Given the description of an element on the screen output the (x, y) to click on. 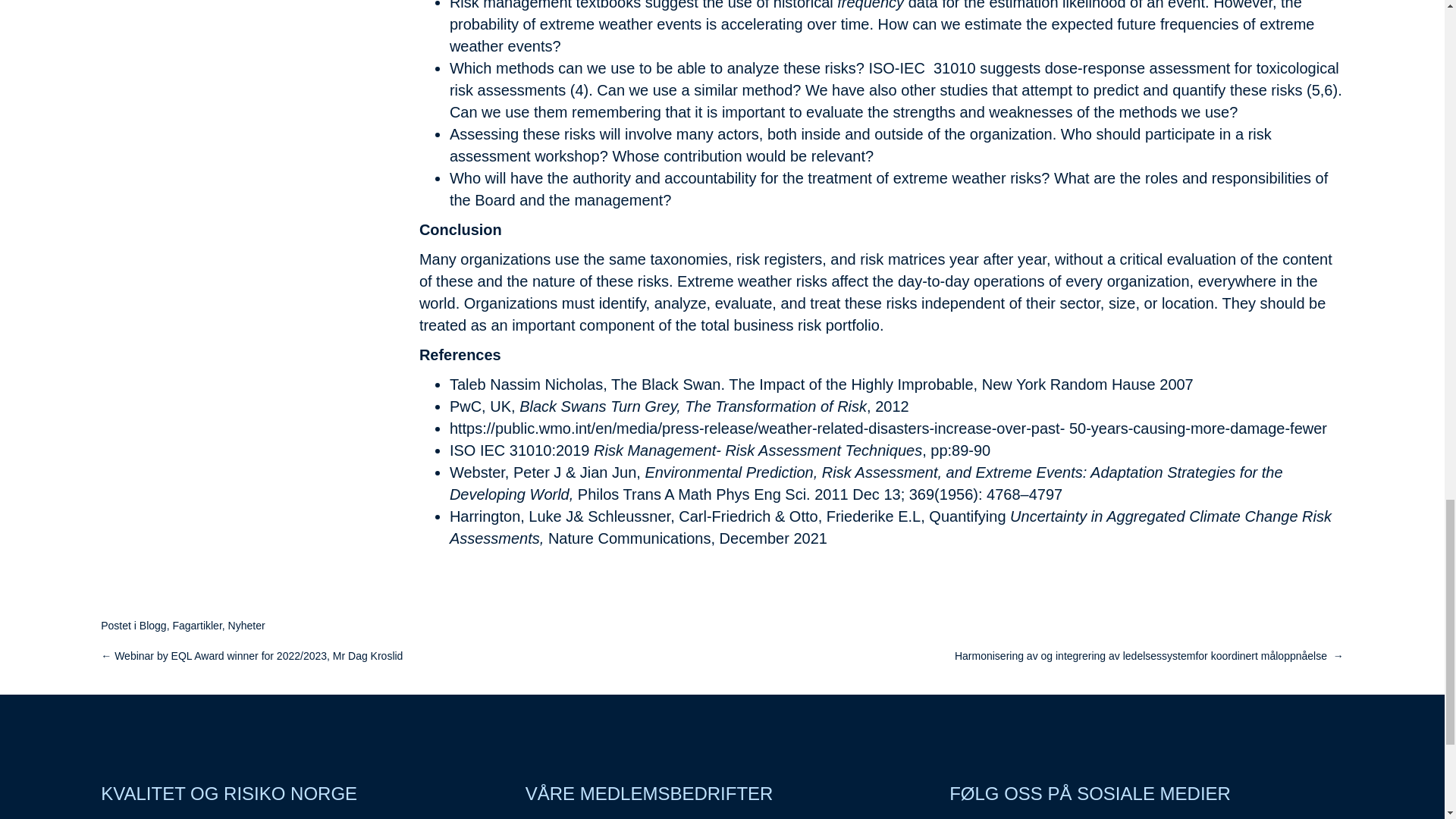
Fagartikler (196, 625)
Nyheter (246, 625)
Blogg (153, 625)
